Given the description of an element on the screen output the (x, y) to click on. 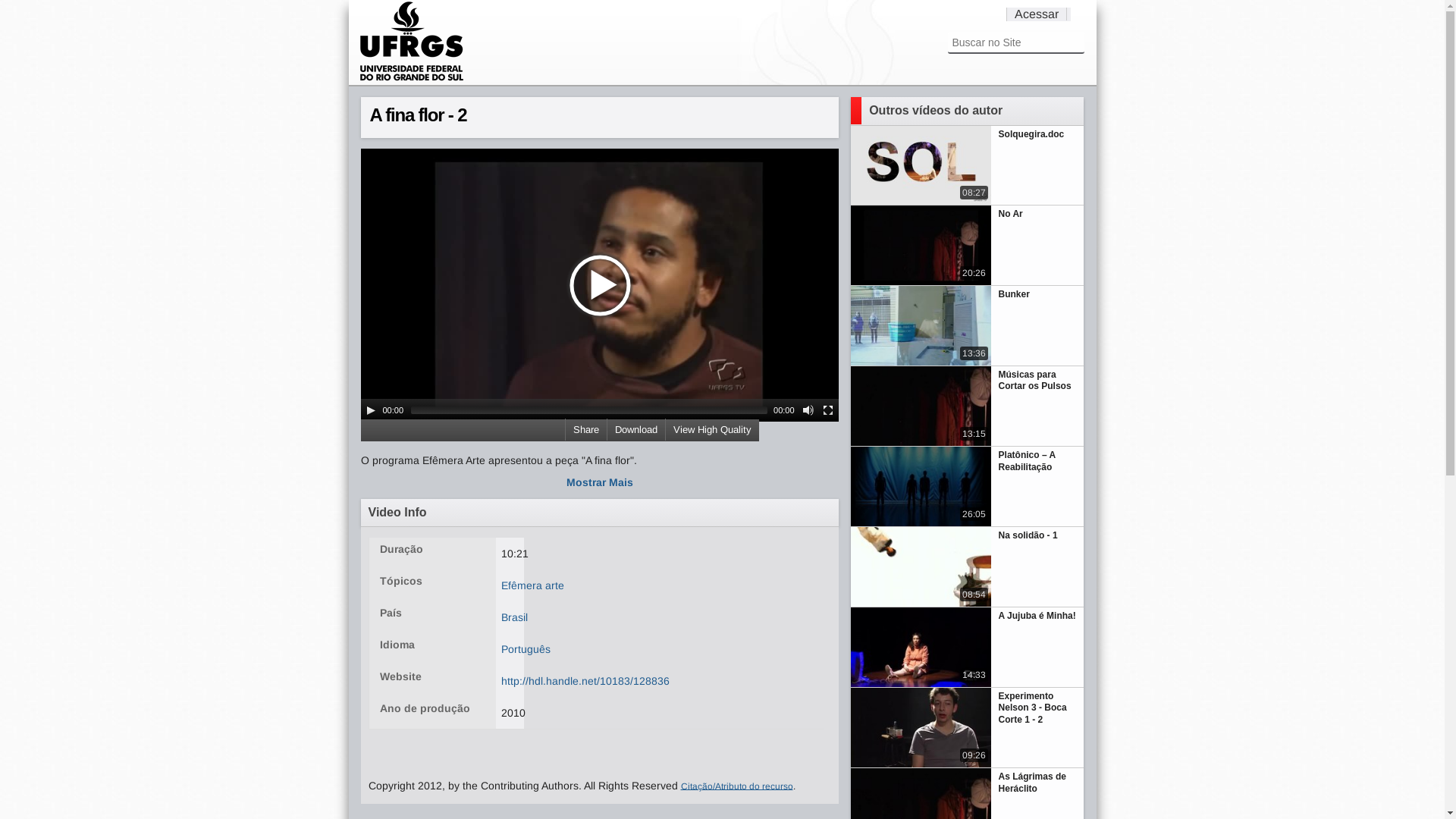
Buscar no Site Element type: hover (1015, 42)
Video Info Element type: text (599, 512)
Buscar Element type: text (17, 7)
Bunker
13:36 Element type: text (966, 325)
Mostrar Mais Element type: text (599, 482)
Download Element type: text (635, 429)
Mute Toggle Element type: hover (808, 410)
No Ar
20:26 Element type: text (966, 245)
Share Element type: text (584, 429)
Solquegira.doc
08:27 Element type: text (966, 165)
UFRGS TV Element type: hover (411, 78)
Brasil Element type: text (514, 616)
Experimento Nelson 3 - Boca Corte 1 - 2
09:26 Element type: text (966, 727)
View High Quality Element type: text (711, 429)
Play/Pause Element type: hover (370, 410)
Fullscreen Element type: hover (828, 410)
Acessar Element type: text (1040, 13)
http://hdl.handle.net/10183/128836 Element type: text (585, 680)
